Given the description of an element on the screen output the (x, y) to click on. 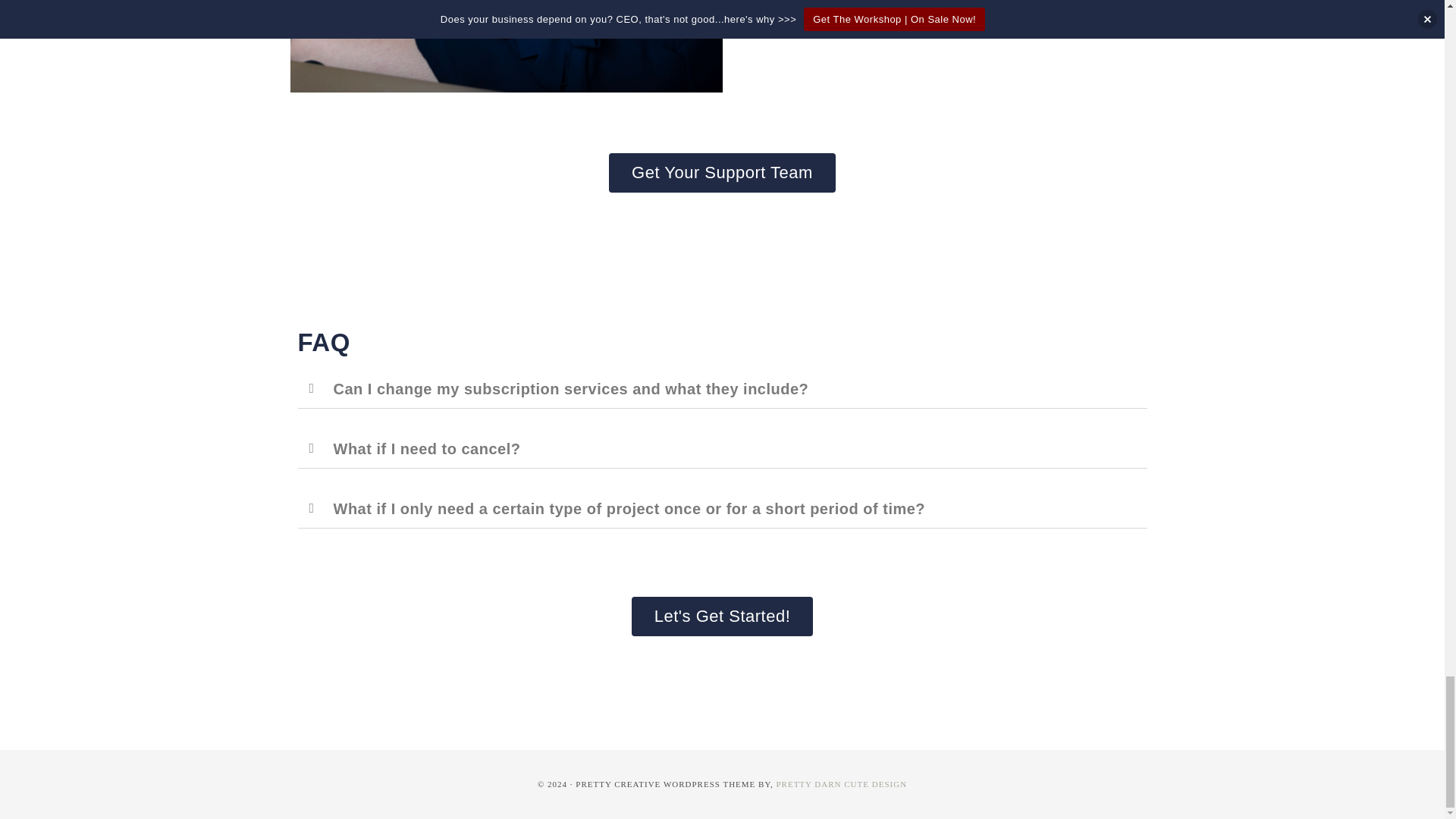
What if I need to cancel? (427, 448)
PRETTY DARN CUTE DESIGN (841, 783)
Let's Get Started! (722, 616)
Can I change my subscription services and what they include? (571, 388)
Get Your Support Team (721, 172)
